Given the description of an element on the screen output the (x, y) to click on. 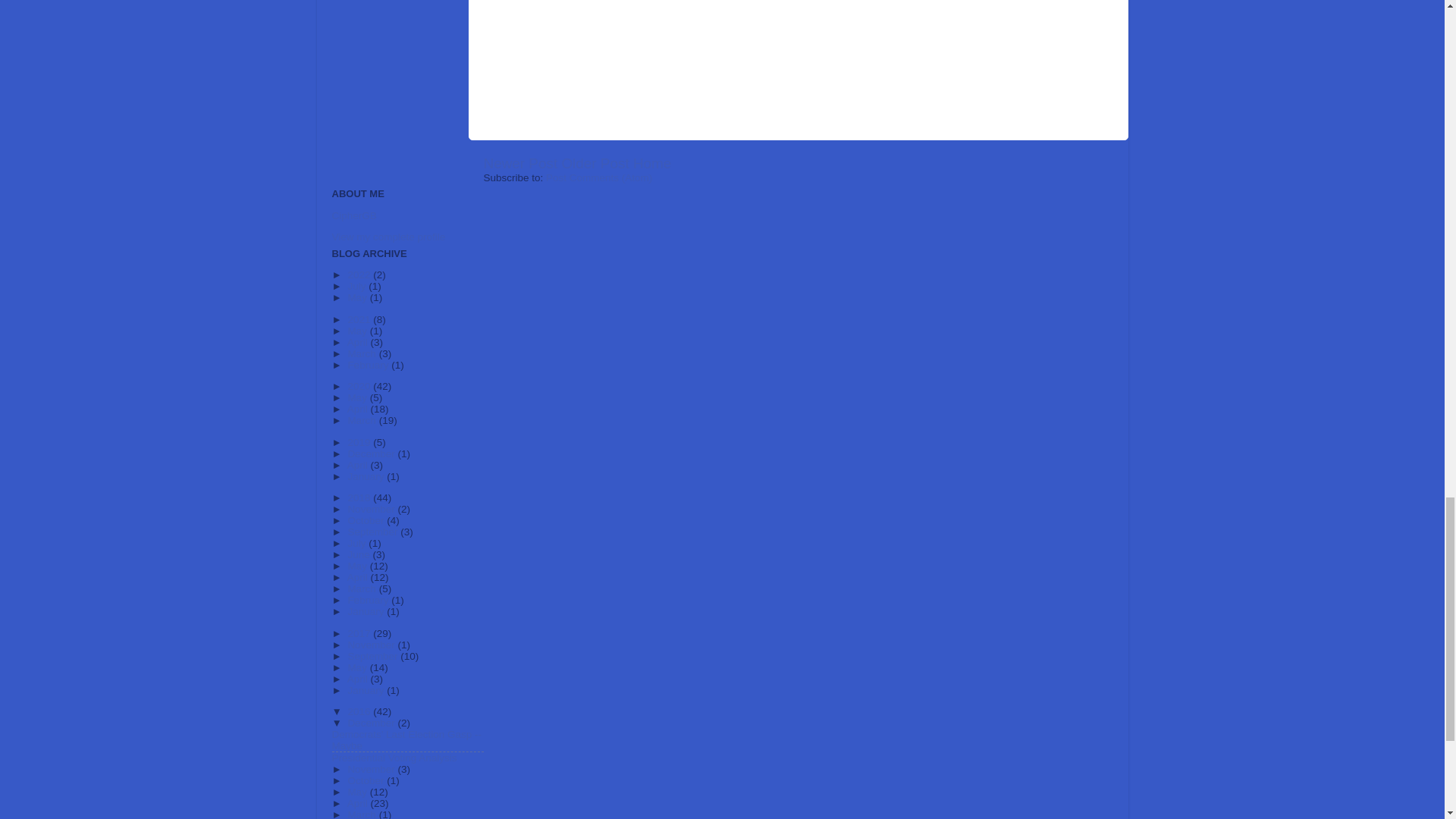
2022 (359, 274)
Older Post (594, 163)
2021 (359, 319)
May (358, 330)
Home (652, 163)
Older Post (594, 163)
View my complete profile (388, 236)
Newer Post (520, 163)
Newer Post (520, 163)
CipherGB (354, 215)
July (357, 285)
May (358, 297)
